Given the description of an element on the screen output the (x, y) to click on. 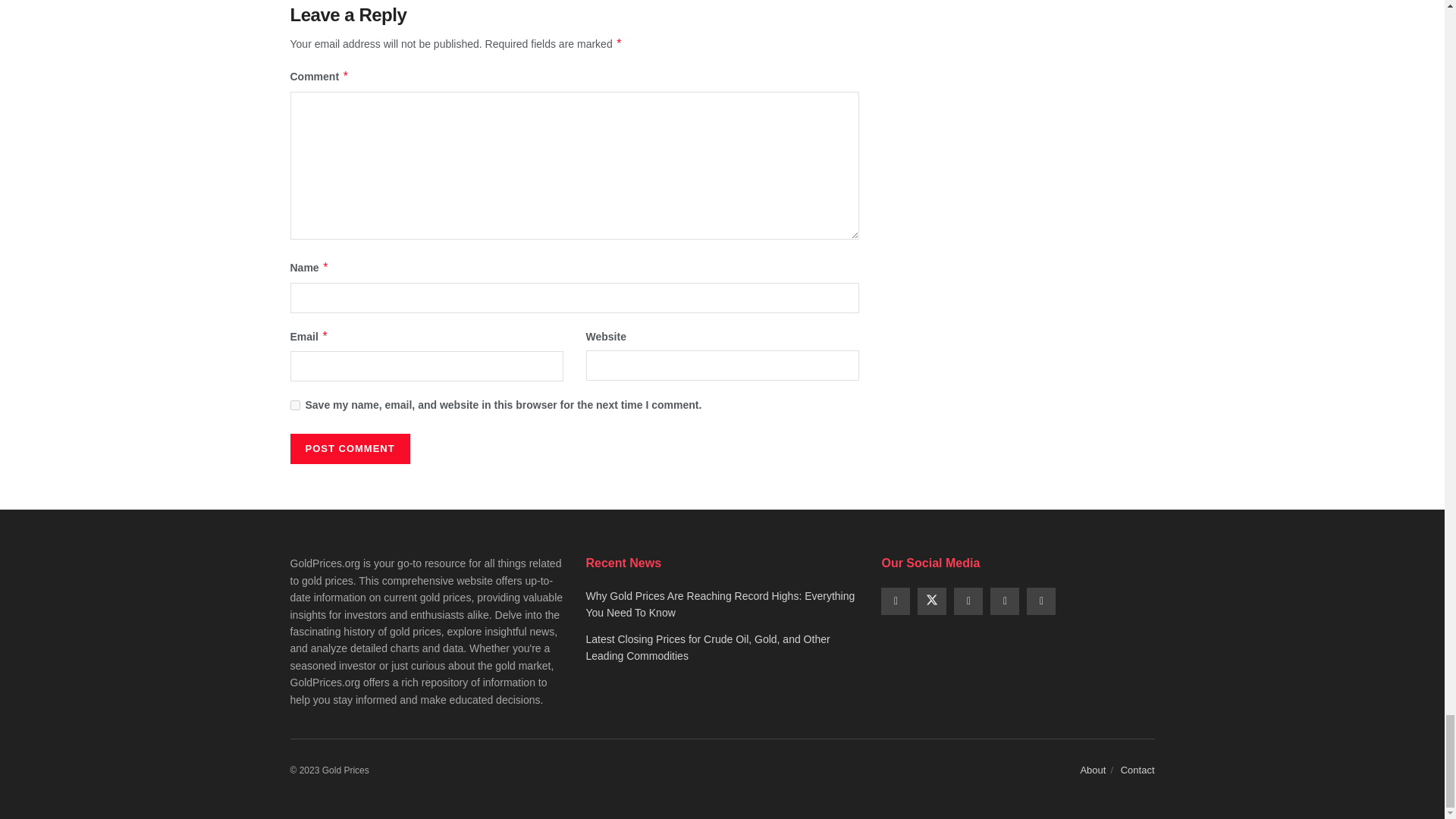
yes (294, 405)
Post Comment (349, 449)
